Given the description of an element on the screen output the (x, y) to click on. 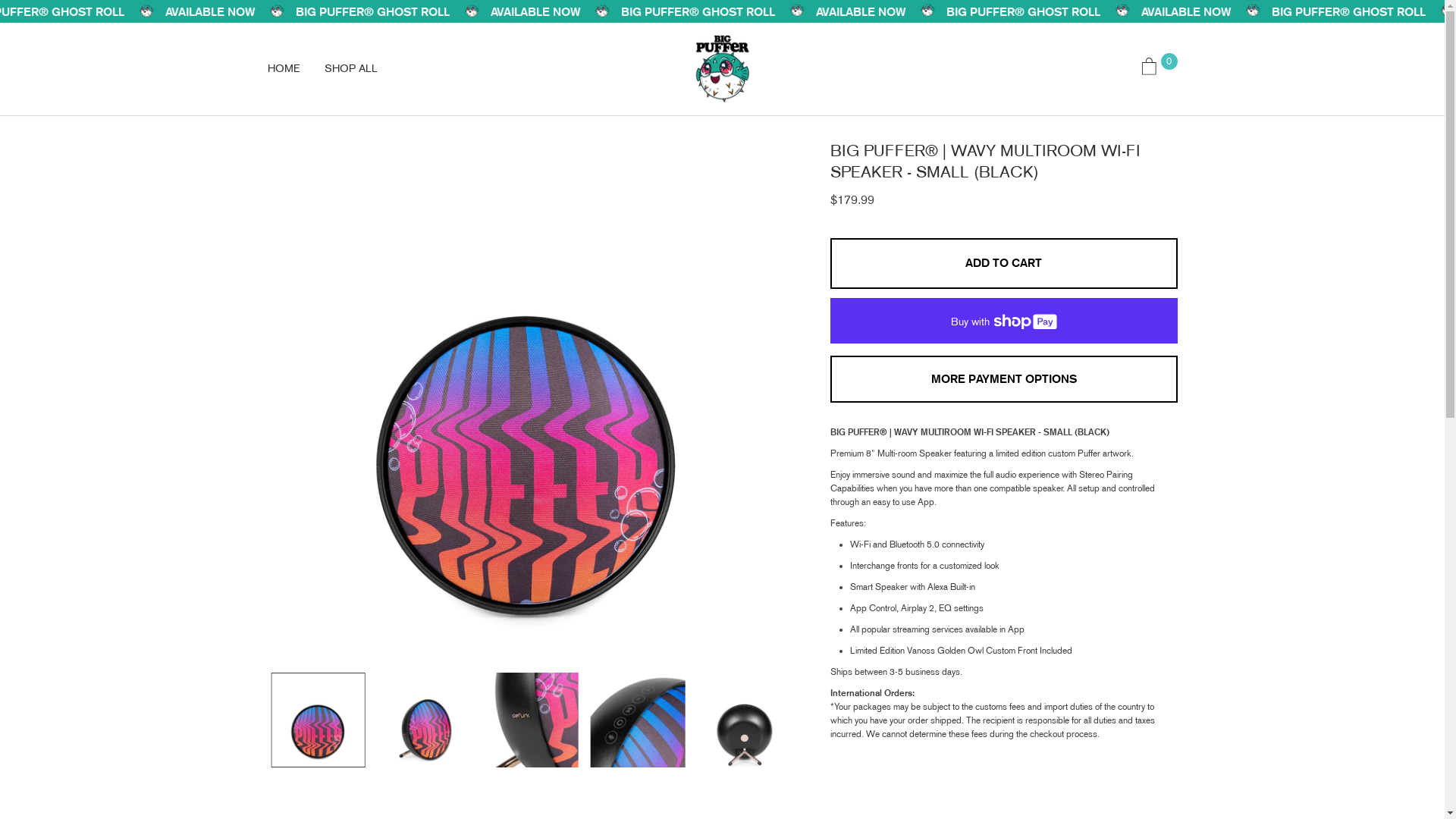
0 Element type: text (1153, 69)
MORE PAYMENT OPTIONS Element type: text (1003, 378)
ADD TO CART Element type: text (1003, 263)
HOME Element type: text (282, 68)
SHOP ALL Element type: text (350, 68)
